Given the description of an element on the screen output the (x, y) to click on. 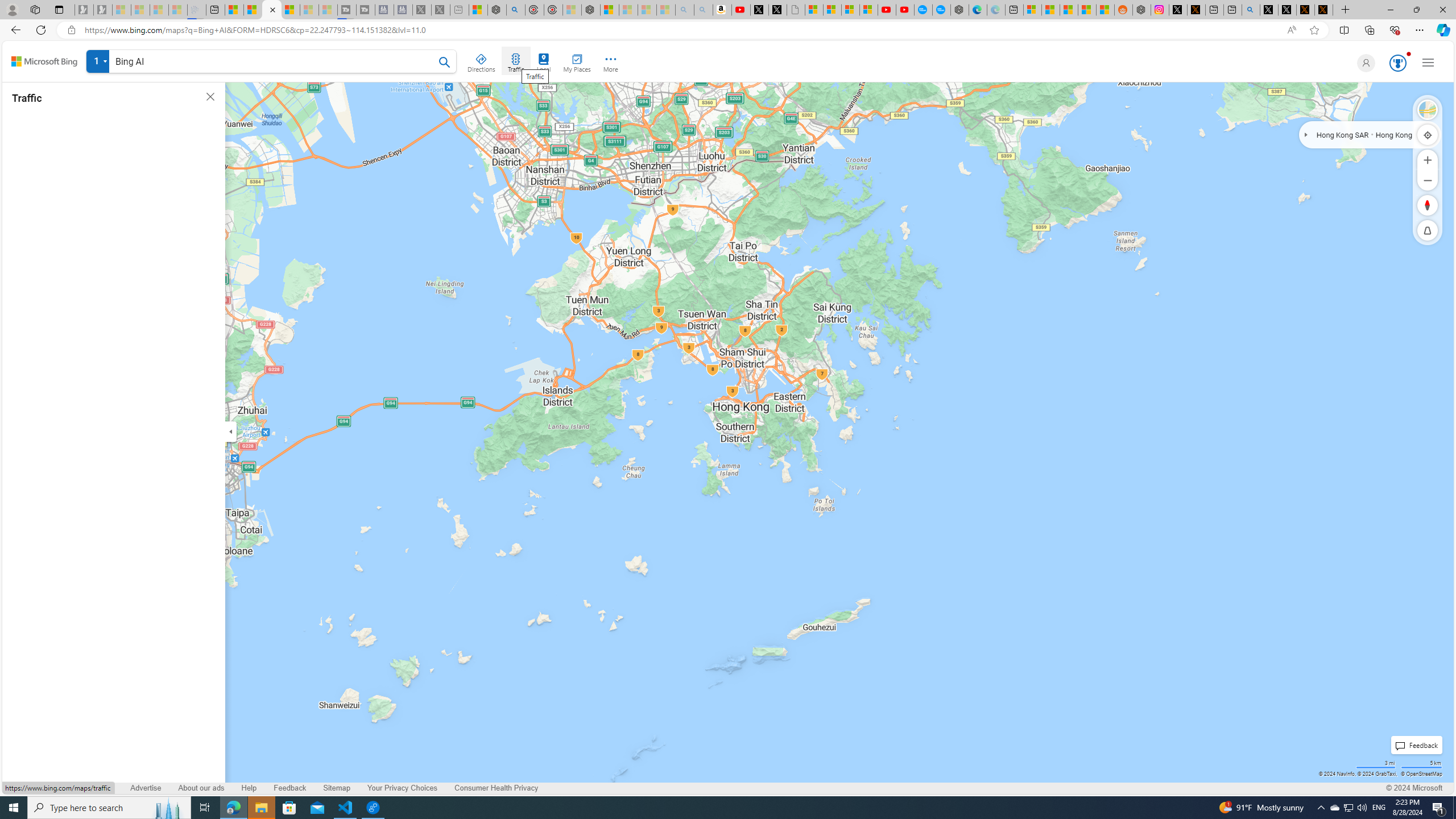
The most popular Google 'how to' searches (941, 9)
Shanghai, China Weather trends | Microsoft Weather (1105, 9)
Reset to Default Pitch (1427, 230)
Untitled (795, 9)
Legal (103, 787)
Microsoft Start - Sleeping (309, 9)
Rotate Right (1416, 205)
Back to Bing search (44, 60)
github - Search (1251, 9)
Log in to X / X (1178, 9)
Eugene (1363, 62)
Satellite (1427, 109)
